Given the description of an element on the screen output the (x, y) to click on. 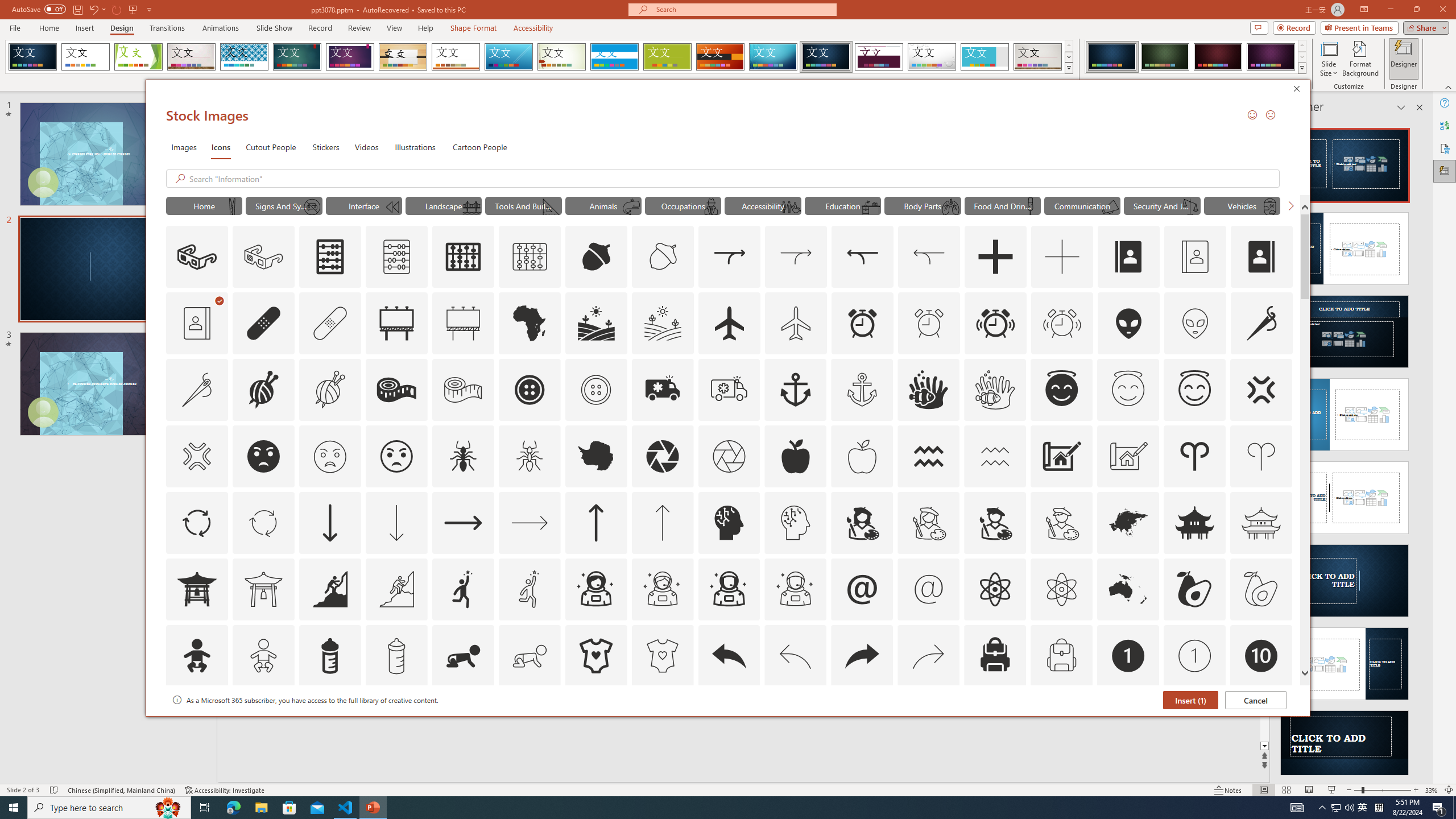
AutomationID: Icons_Badge7 (928, 721)
"Education" Icons. (842, 205)
AutomationID: Icons_AngerSymbol (1260, 389)
AutomationID: Icons_At_M (928, 588)
AutomationID: Icons_ArrowDown_M (395, 522)
AutomationID: Icons_Badge1 (1128, 655)
AutomationID: Icons_Ant (462, 455)
AutomationID: Icons_Airplane (729, 323)
